Given the description of an element on the screen output the (x, y) to click on. 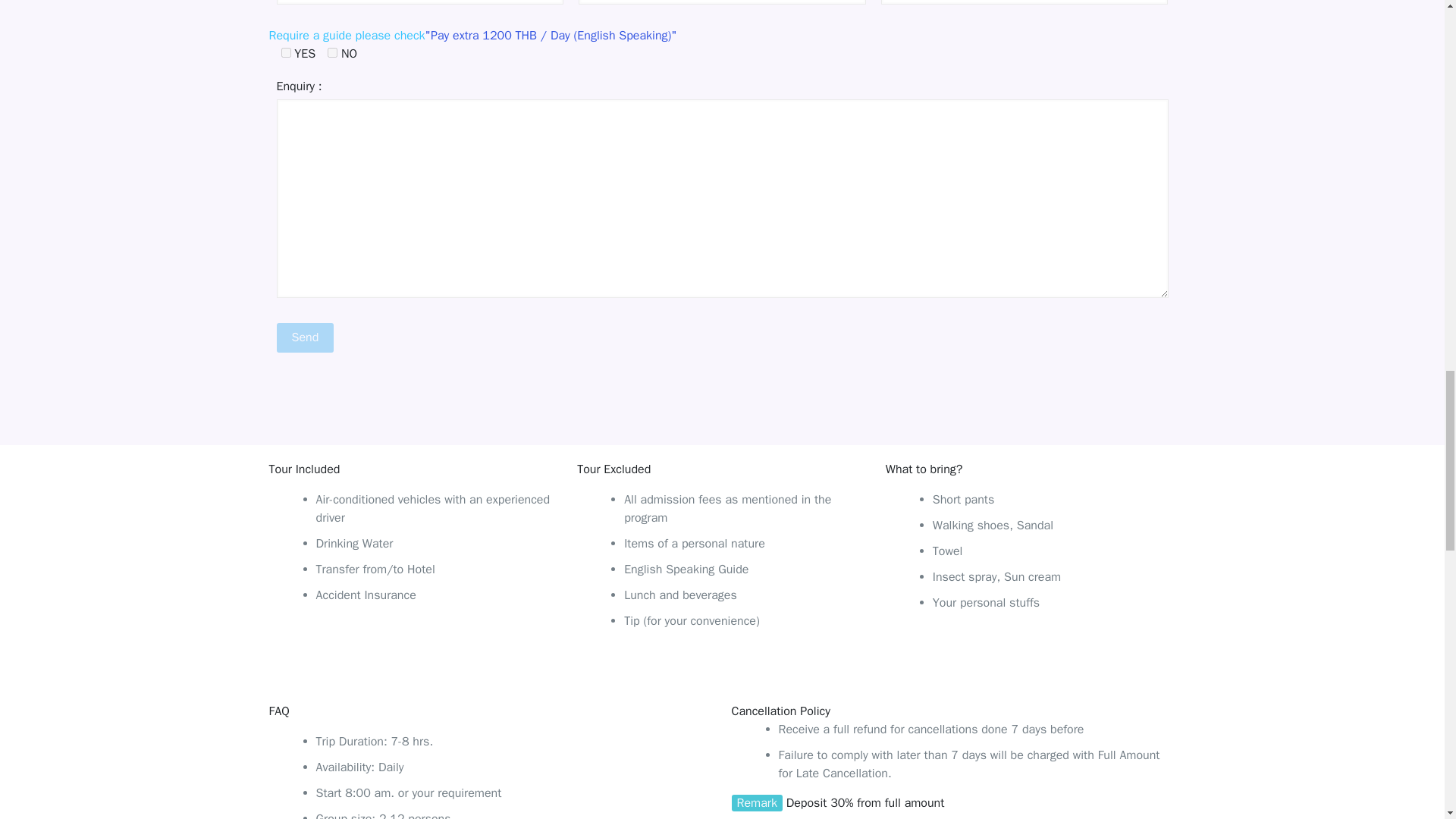
YES (285, 52)
NO (332, 52)
Send (304, 337)
Send (304, 337)
